Given the description of an element on the screen output the (x, y) to click on. 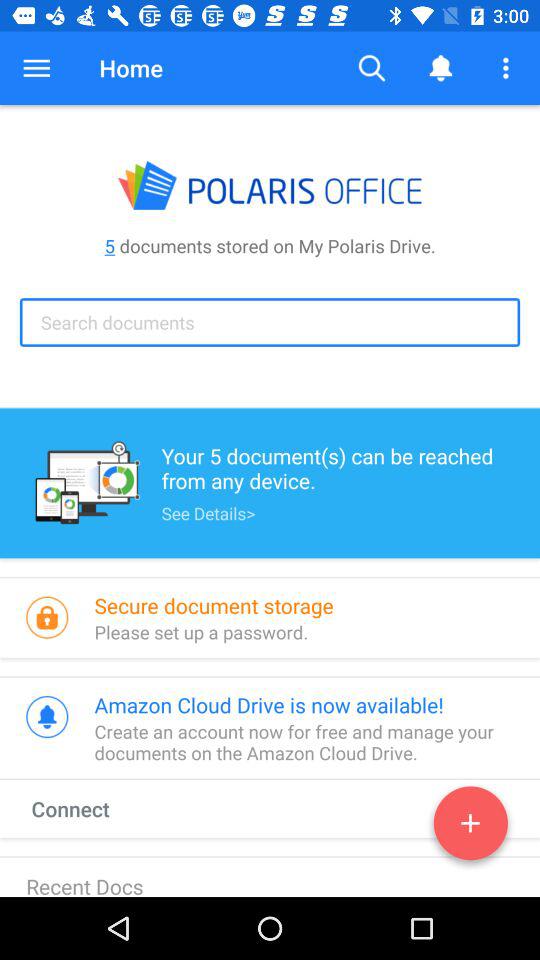
click the home item (130, 68)
